Given the description of an element on the screen output the (x, y) to click on. 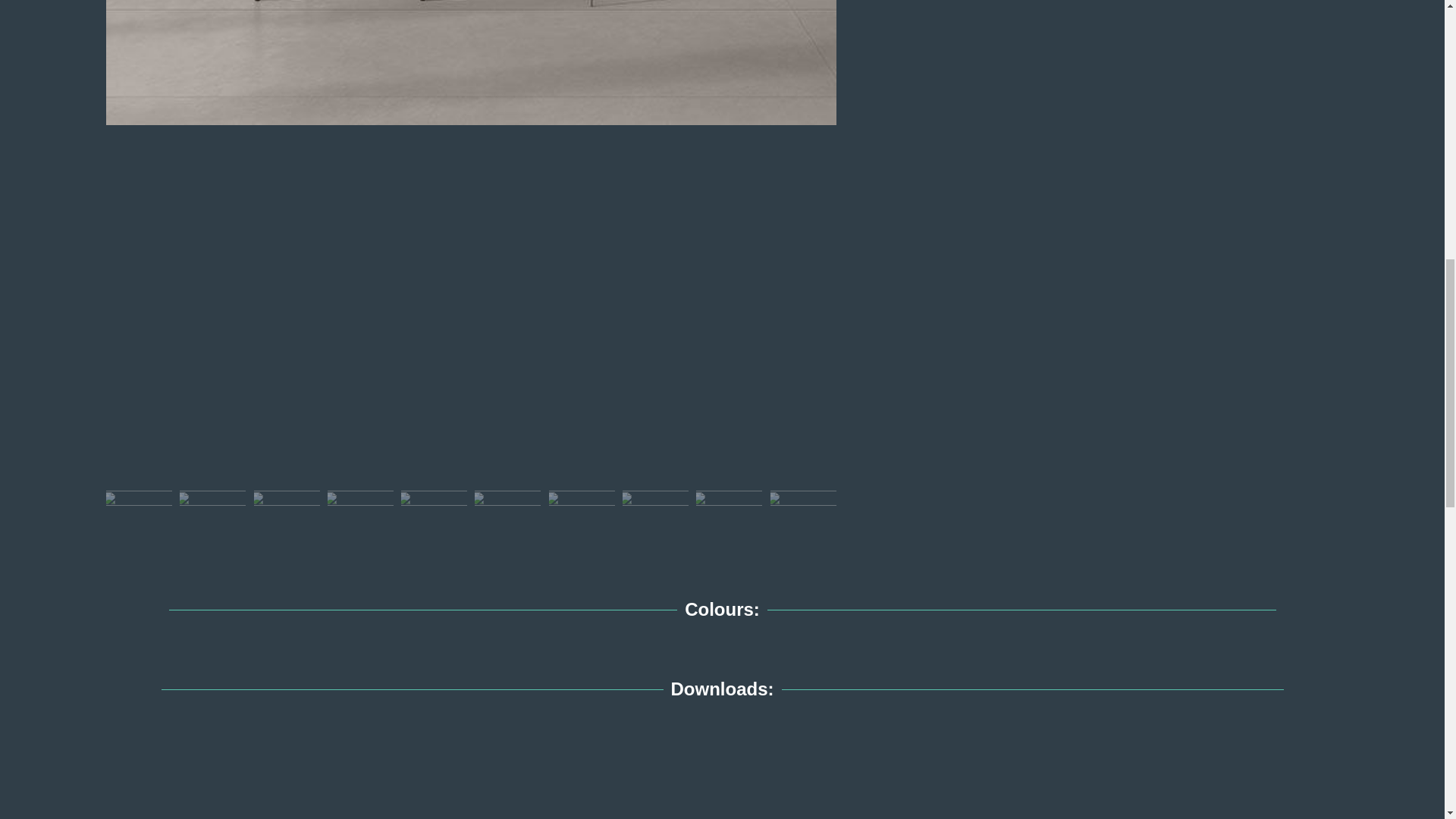
Cotto D Este Cement Project (470, 62)
